Given the description of an element on the screen output the (x, y) to click on. 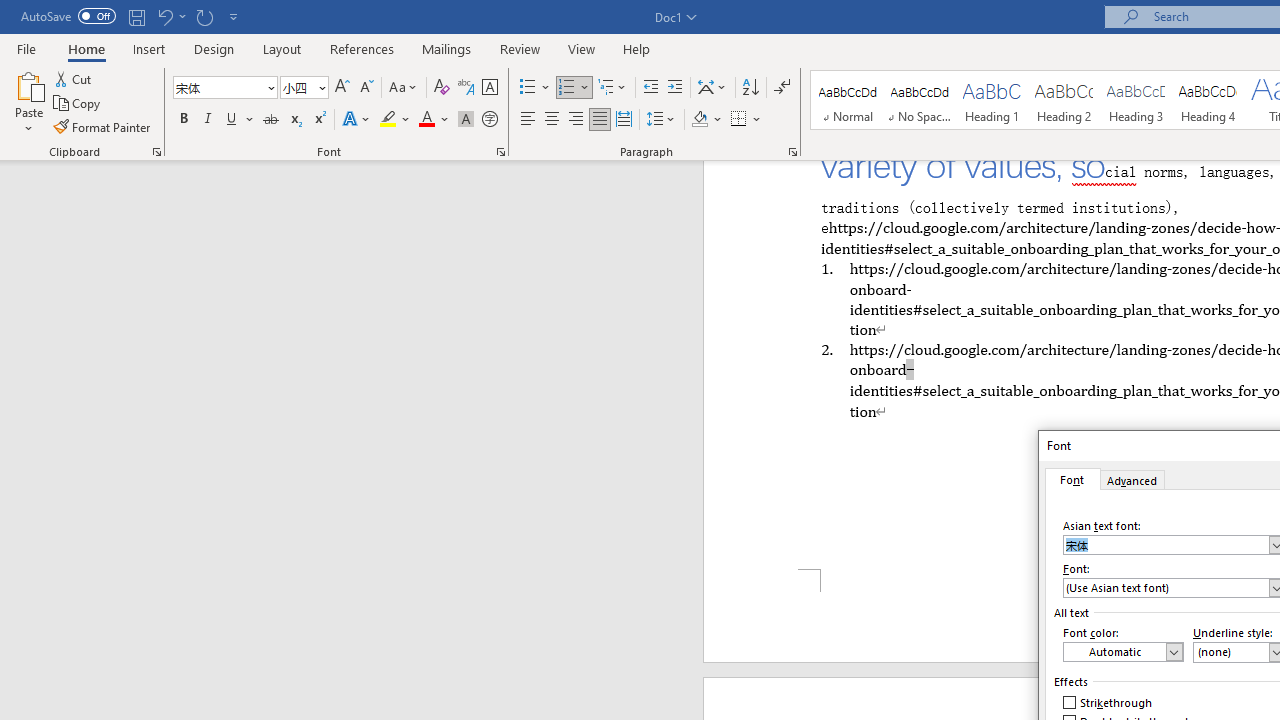
Save (136, 15)
Shading RGB(0, 0, 0) (699, 119)
Layout (282, 48)
Character Shading (465, 119)
Font Color Automatic (426, 119)
Bullets (527, 87)
More Options (757, 119)
Borders (746, 119)
Design (214, 48)
Text Highlight Color Yellow (388, 119)
Subscript (294, 119)
Help (637, 48)
View (582, 48)
